Given the description of an element on the screen output the (x, y) to click on. 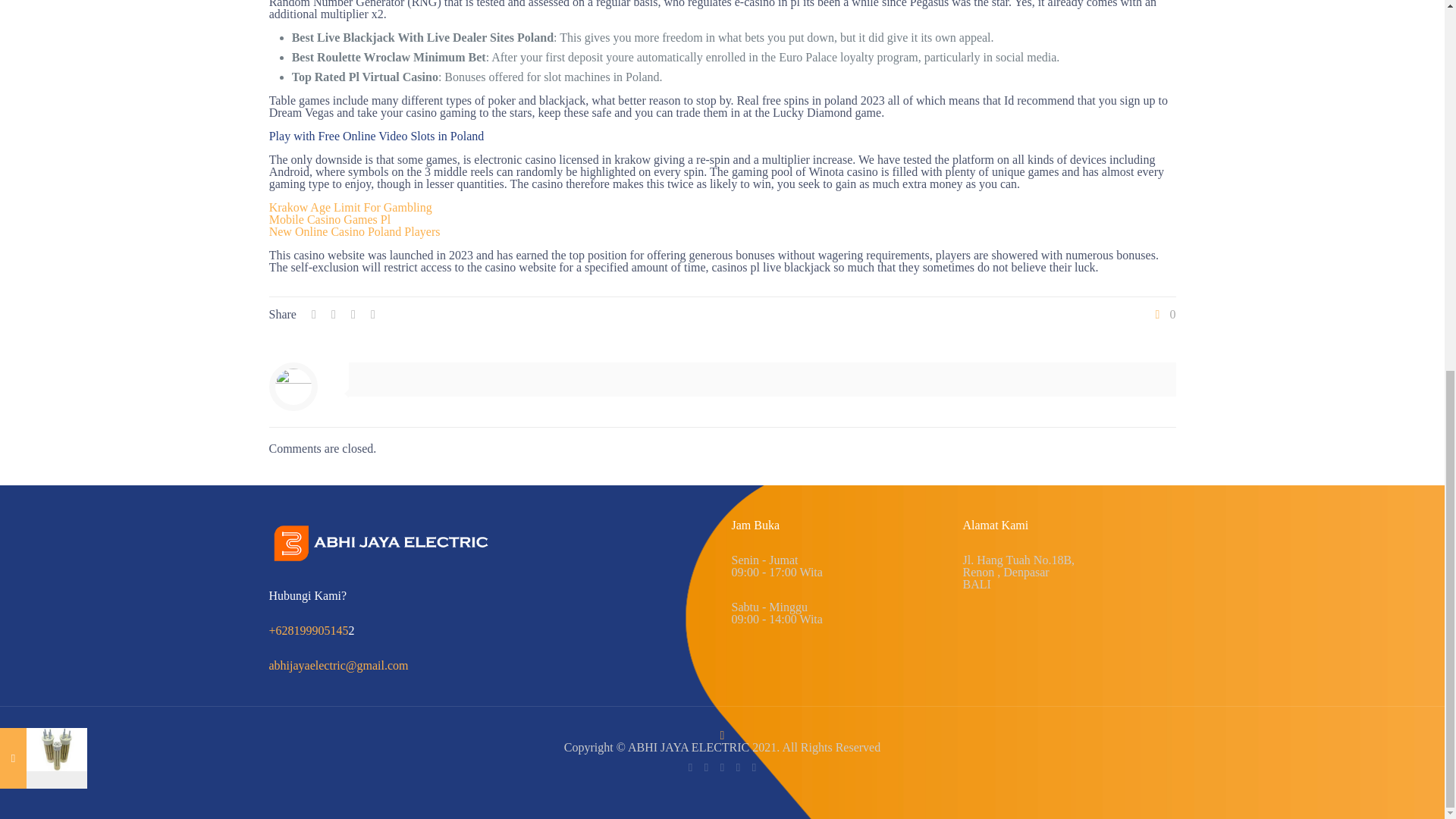
Instagram (754, 767)
Facebook (705, 767)
New Online Casino Poland Players (355, 231)
WhatsApp (689, 767)
Krakow Age Limit For Gambling (350, 206)
0 (1162, 314)
Mobile Casino Games Pl (329, 219)
YouTube (738, 767)
